Given the description of an element on the screen output the (x, y) to click on. 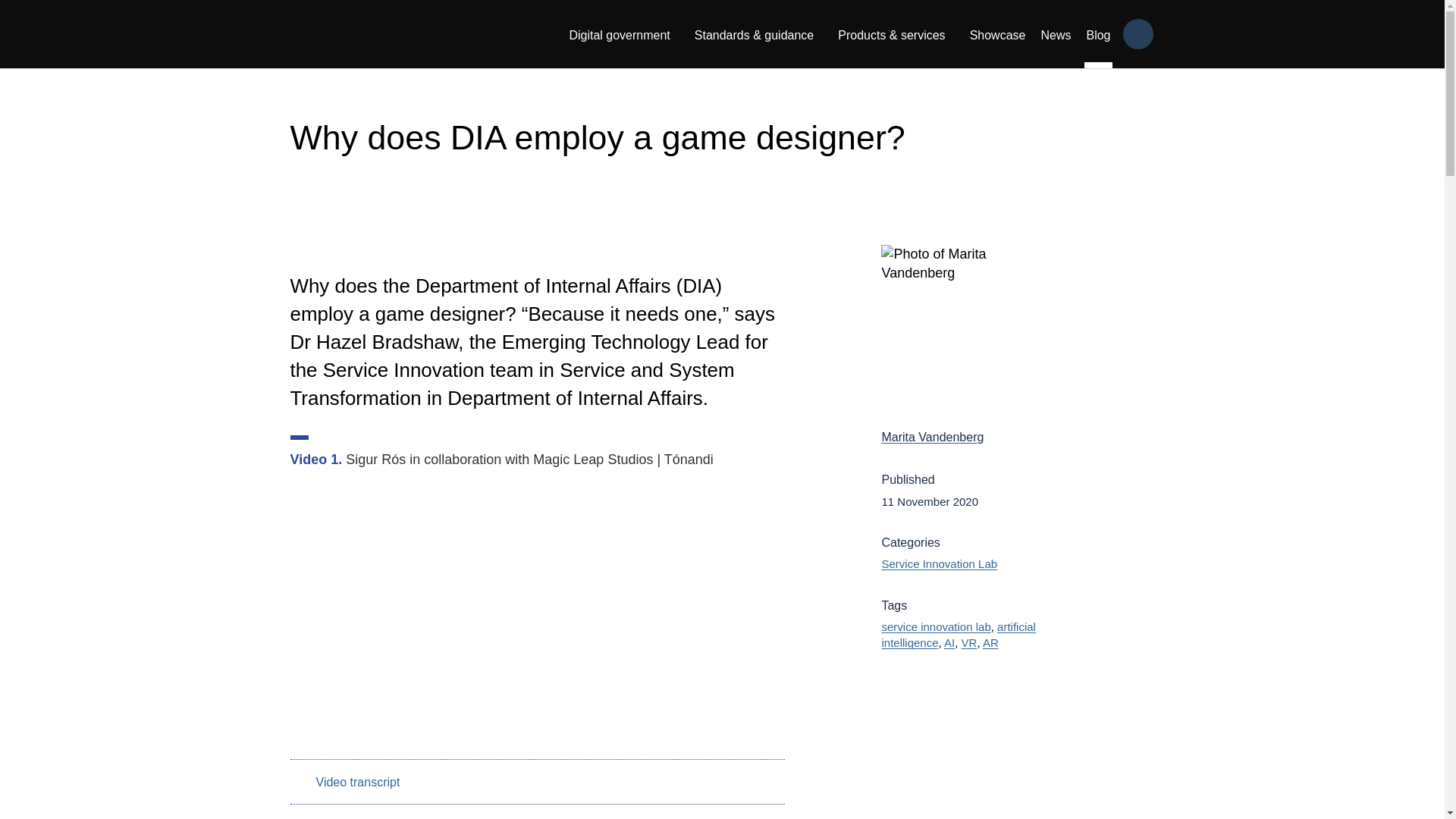
Service Innovation Lab (938, 563)
Digital government (619, 33)
service innovation lab (935, 626)
VR (968, 642)
AR (990, 642)
artificial intelligence (957, 634)
